Given the description of an element on the screen output the (x, y) to click on. 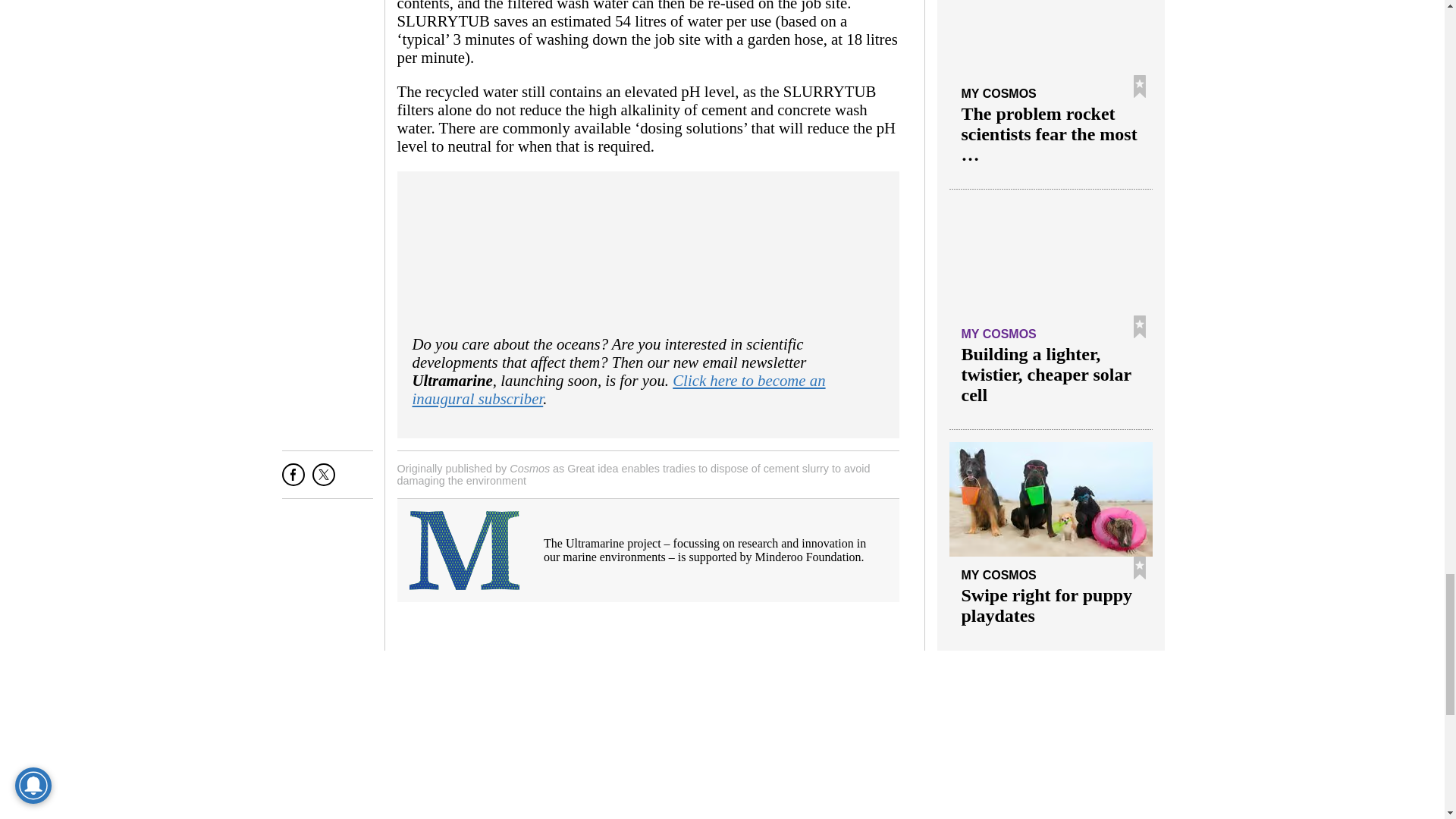
Share on Facebook (293, 479)
Tweet (323, 479)
